Given the description of an element on the screen output the (x, y) to click on. 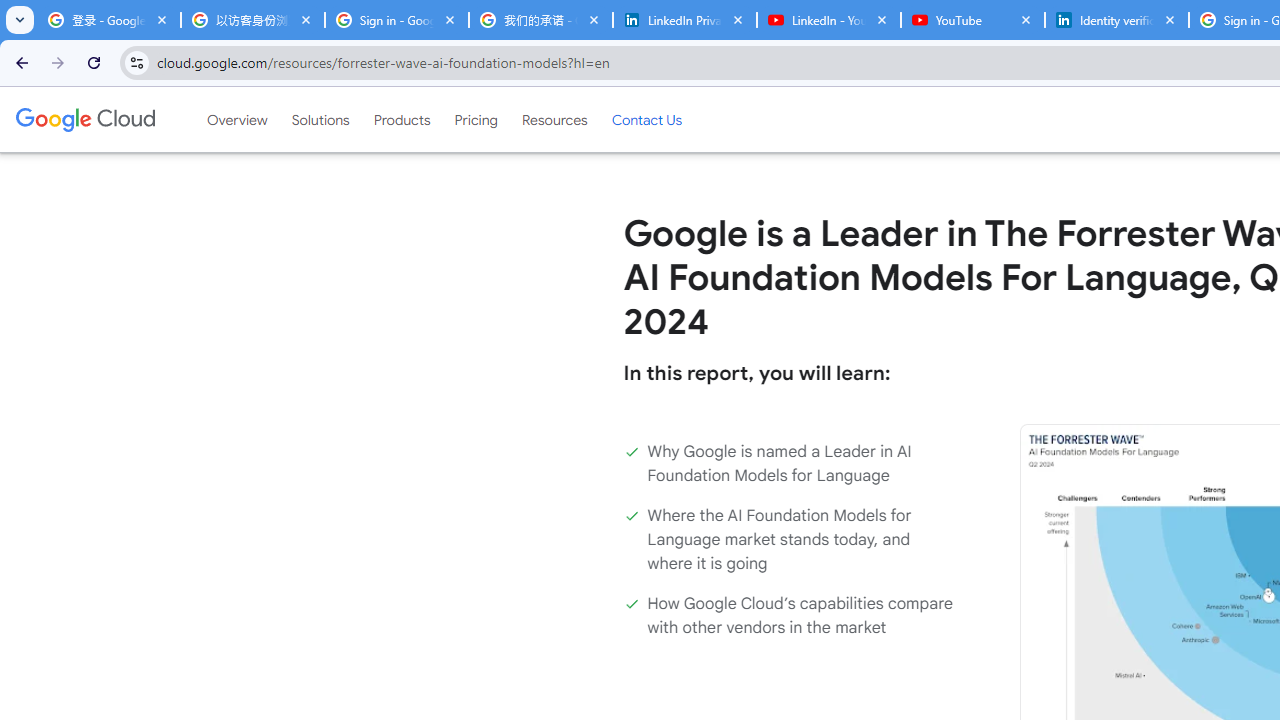
Sign in - Google Accounts (396, 20)
